Given the description of an element on the screen output the (x, y) to click on. 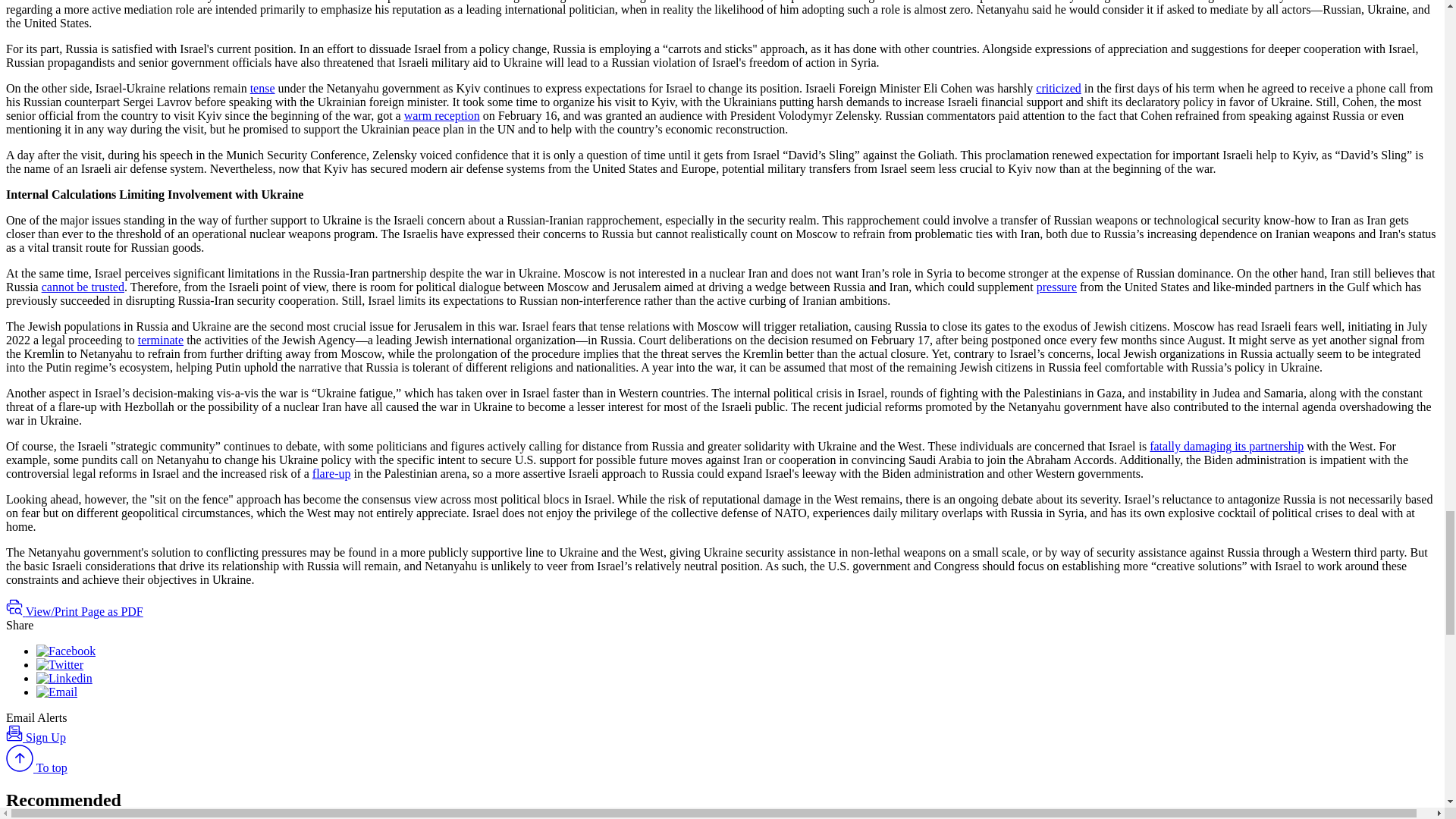
Linkedin (64, 677)
Facebook (66, 650)
Email (56, 691)
Twitter (59, 664)
